Given the description of an element on the screen output the (x, y) to click on. 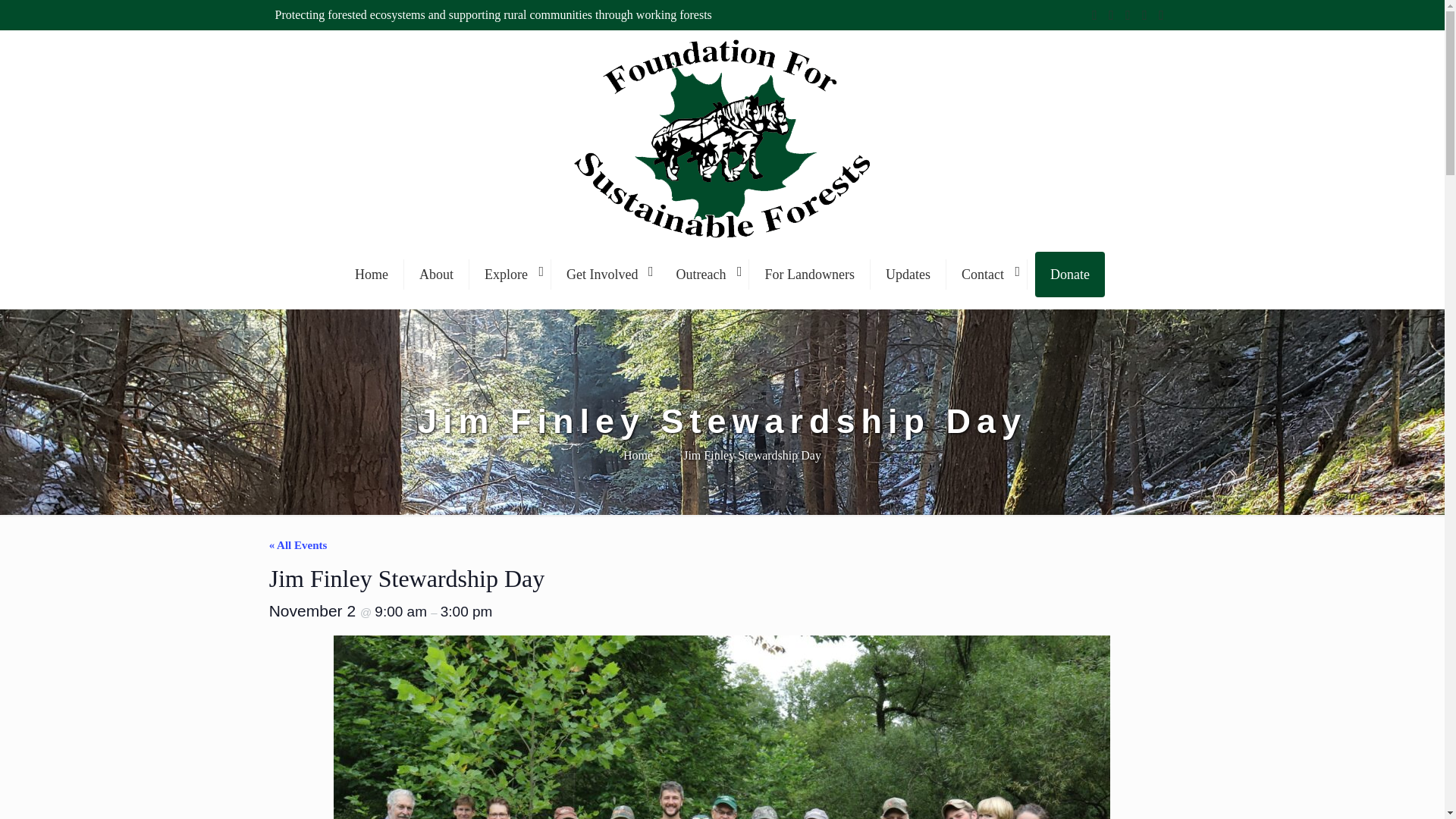
Get Involved (606, 274)
Donate (1070, 274)
For Landowners (809, 274)
Home (371, 274)
Outreach (705, 274)
About (436, 274)
Explore (509, 274)
Updates (908, 274)
Foundation for Sustainable Forests (721, 245)
Contact (986, 274)
